Given the description of an element on the screen output the (x, y) to click on. 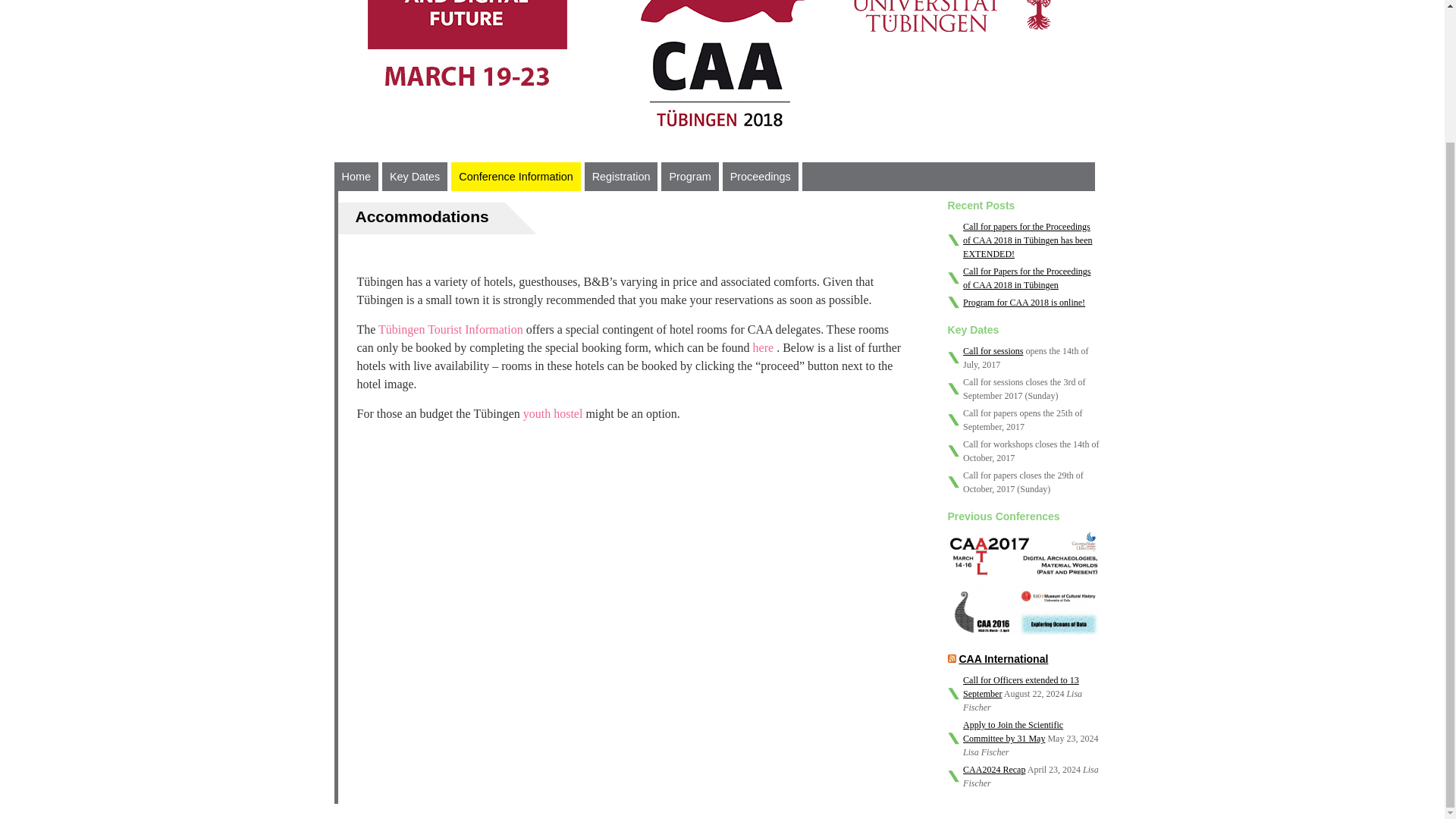
Registration (621, 176)
Proceedings (759, 176)
CAA International (1003, 658)
youth hostel (554, 413)
Program for CAA 2018 is online! (1023, 302)
Call for sessions (992, 350)
Key Dates (413, 176)
Conference Information (515, 176)
Program (689, 176)
Home (355, 176)
